Given the description of an element on the screen output the (x, y) to click on. 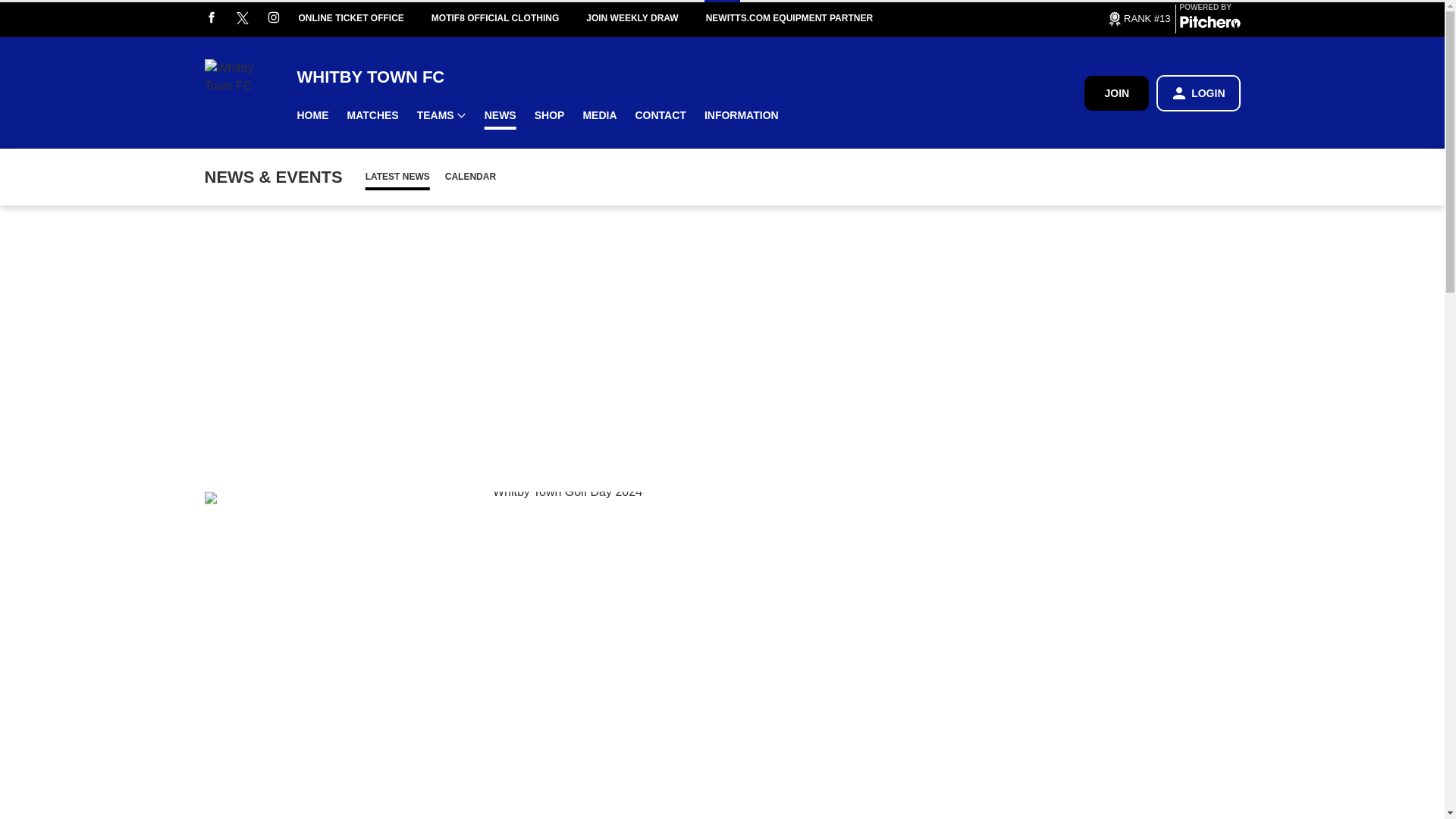
MOTIF8 OFFICIAL CLOTHING (508, 18)
NEWITTS.COM EQUIPMENT PARTNER (802, 18)
JOIN WEEKLY DRAW (645, 18)
Pitchero (1209, 24)
CONTACT (660, 115)
ONLINE TICKET OFFICE (364, 18)
WHITBY TOWN FC (690, 76)
LOGIN (1198, 93)
SHOP (549, 115)
INFORMATION (741, 115)
HOME (312, 115)
MATCHES (372, 115)
JOIN (1116, 93)
NEWS (500, 115)
MEDIA (599, 115)
